Given the description of an element on the screen output the (x, y) to click on. 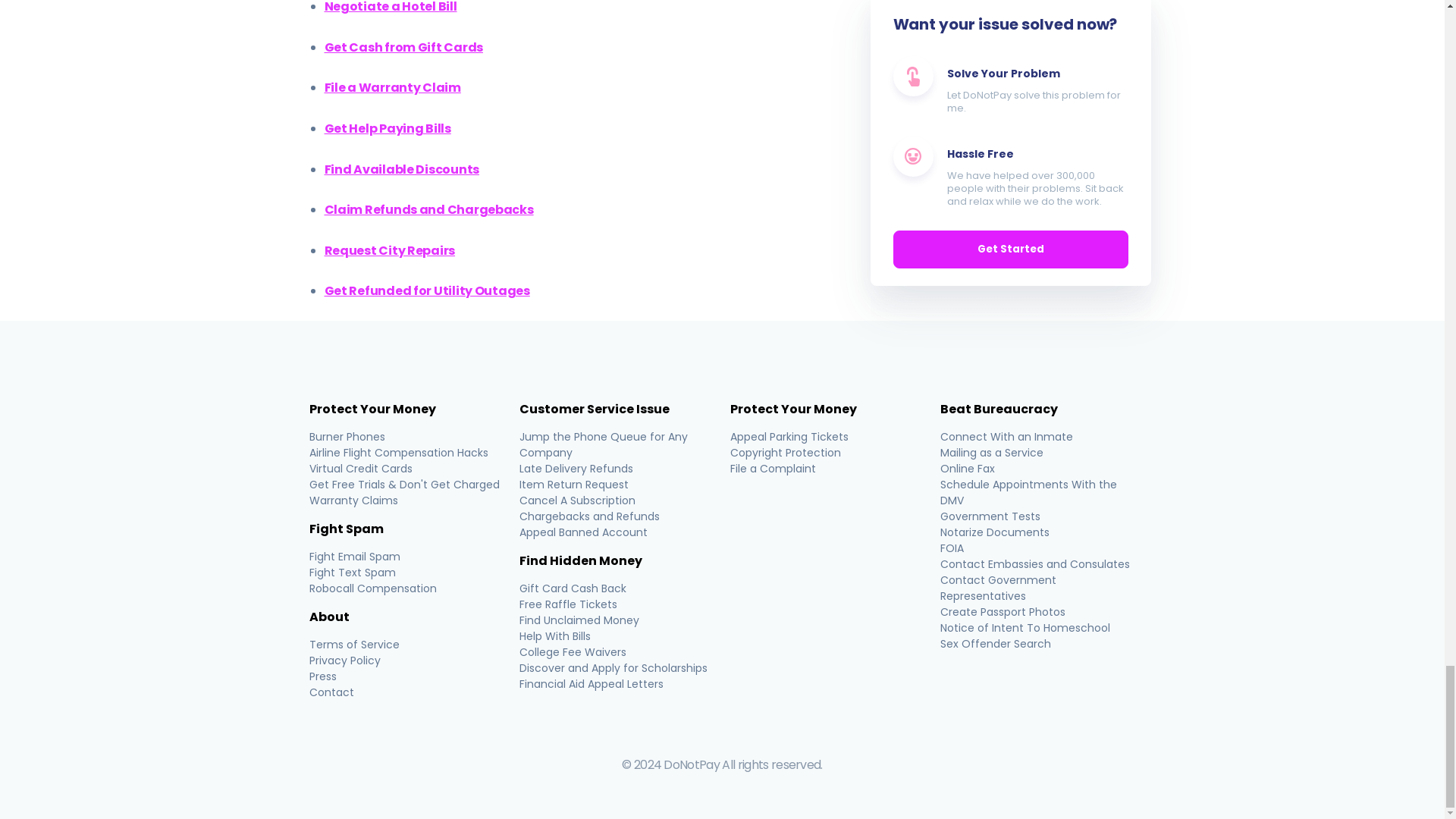
Get Cash from Gift Cards (403, 47)
Negotiate a Hotel Bill (390, 7)
File a Warranty Claim (392, 87)
